Given the description of an element on the screen output the (x, y) to click on. 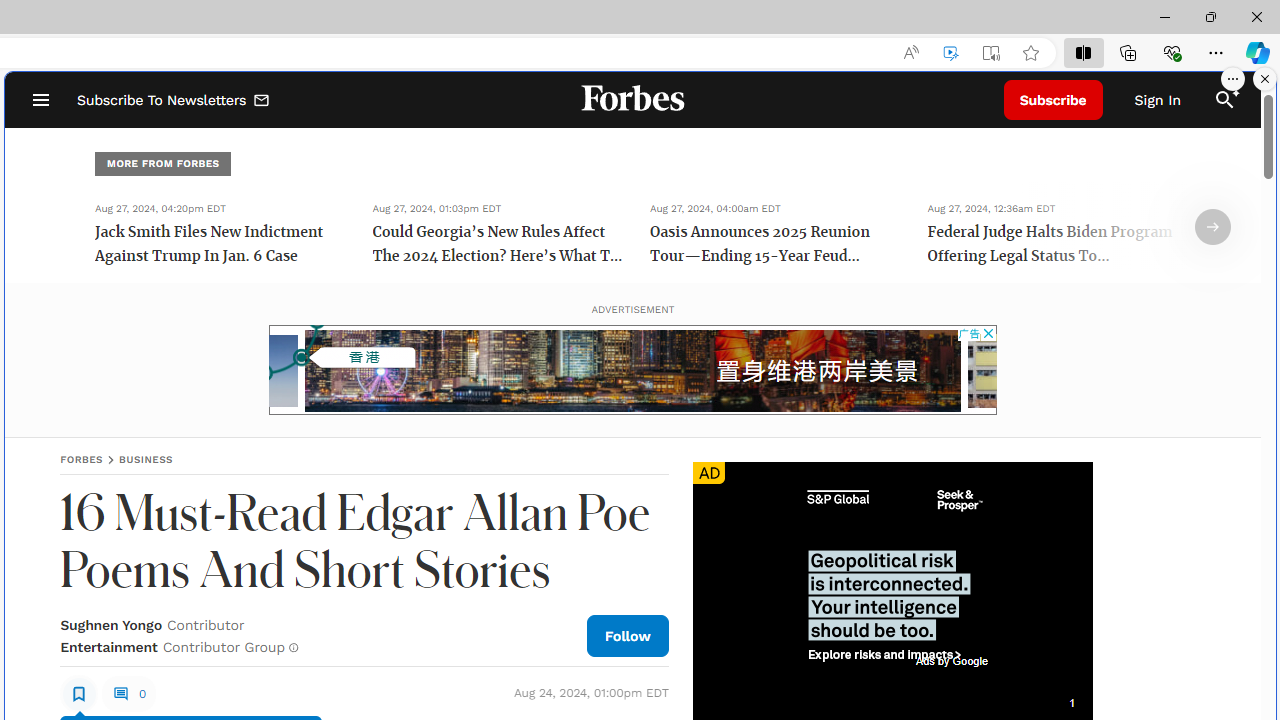
0 (128, 693)
Class: search_svg__fs-icon search_svg__fs-icon--search (1224, 99)
Follow Author (627, 635)
Class: fs-icon fs-icon--comment (120, 693)
Sign In (1157, 100)
Jack Smith Files New Indictment Against Trump In Jan. 6 Case (220, 245)
Open Navigation Menu (40, 99)
